Given the description of an element on the screen output the (x, y) to click on. 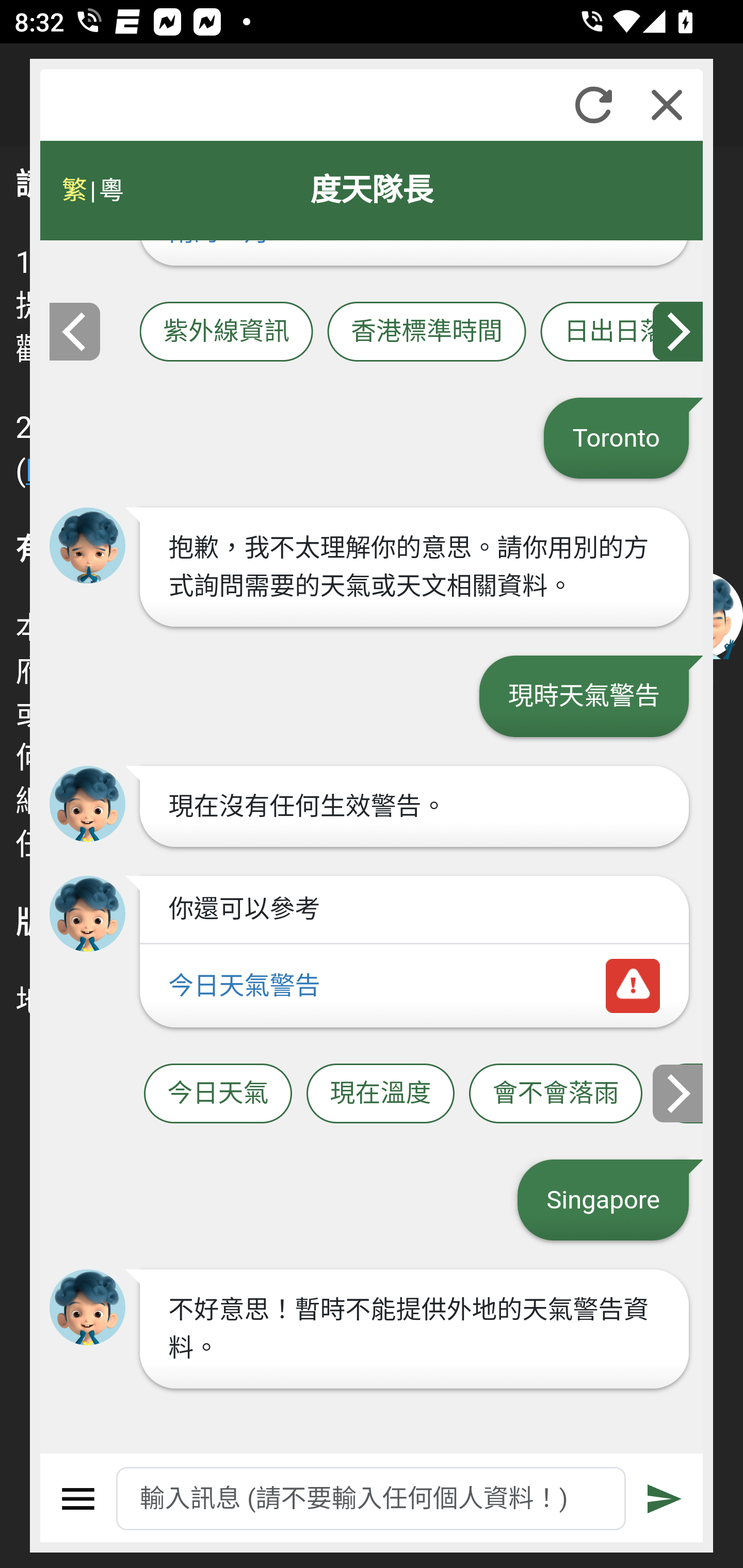
重新整理 (593, 104)
關閉 (666, 104)
繁 (73, 190)
粵 (110, 190)
上一張 (74, 331)
紫外線資訊 (226, 331)
香港標準時間 (426, 331)
日出日落時間 (621, 331)
下一張 (678, 331)
今日天氣警告 (413, 985)
今日天氣 (217, 1093)
現在溫度 (380, 1093)
會不會落雨 (555, 1093)
下一張 (678, 1092)
選單 (78, 1498)
遞交 (665, 1498)
